Given the description of an element on the screen output the (x, y) to click on. 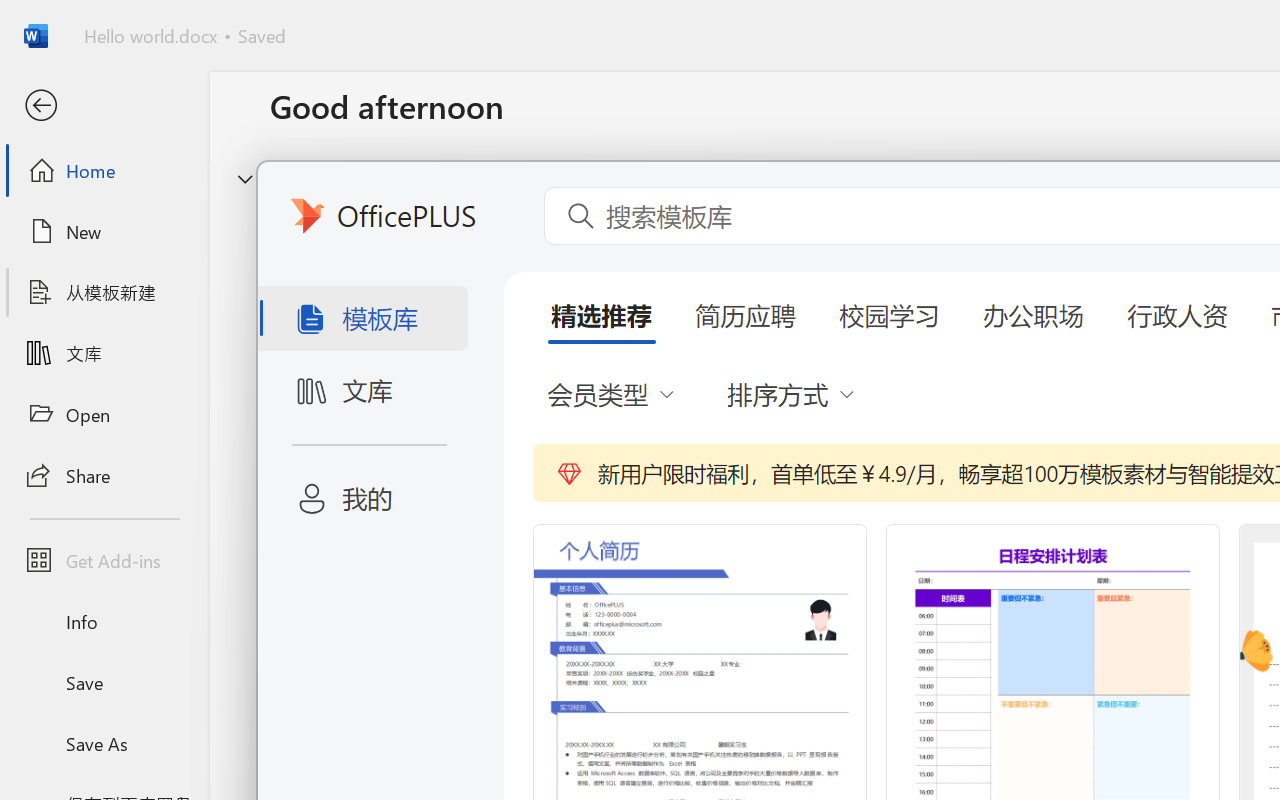
Group (701, 87)
Mark as Decorative (634, 114)
Accessibility Help (1070, 114)
Camera Format (836, 54)
Reading Order Pane (529, 114)
